Given the description of an element on the screen output the (x, y) to click on. 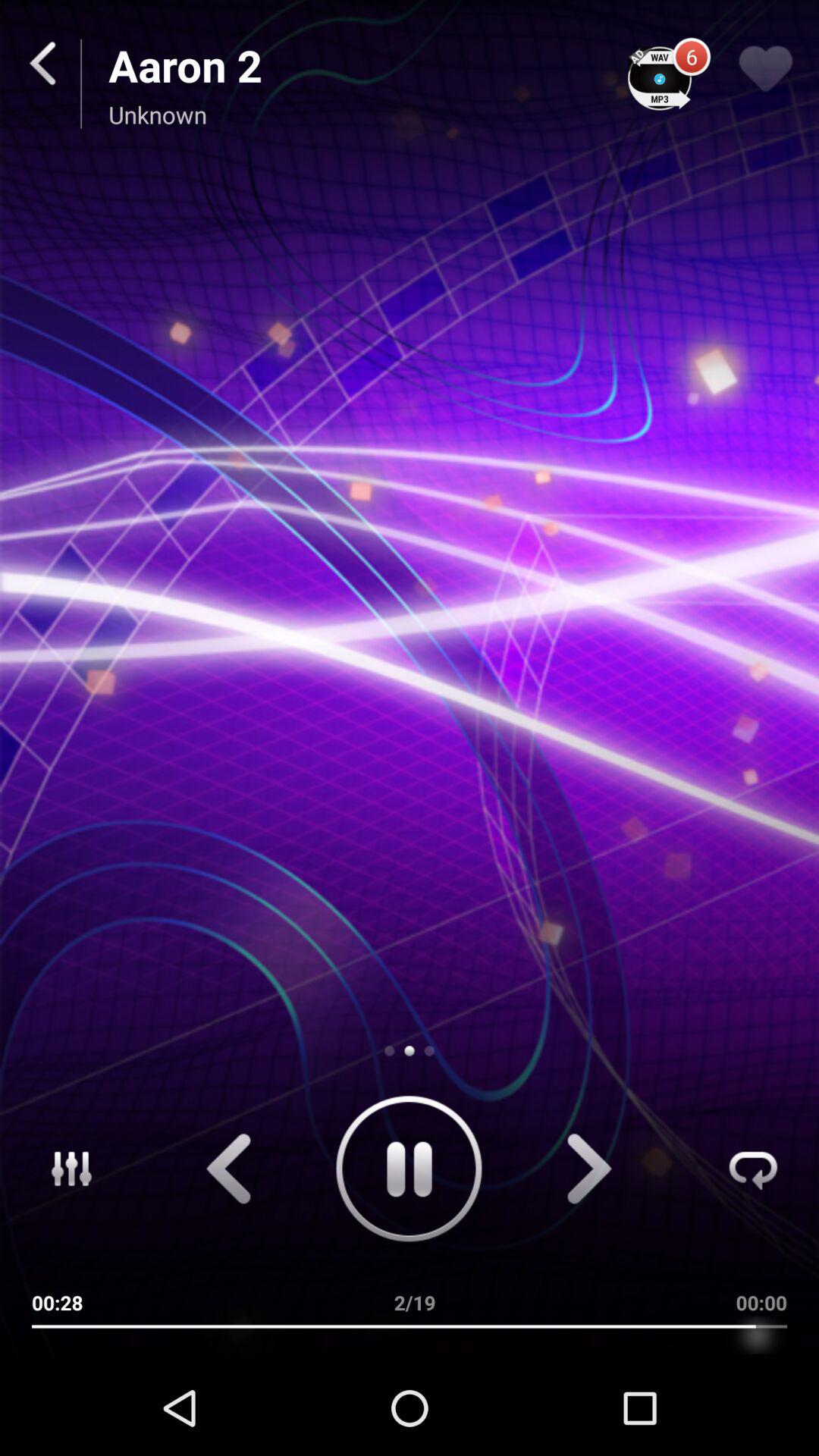
select repeat icon (760, 1172)
